Given the description of an element on the screen output the (x, y) to click on. 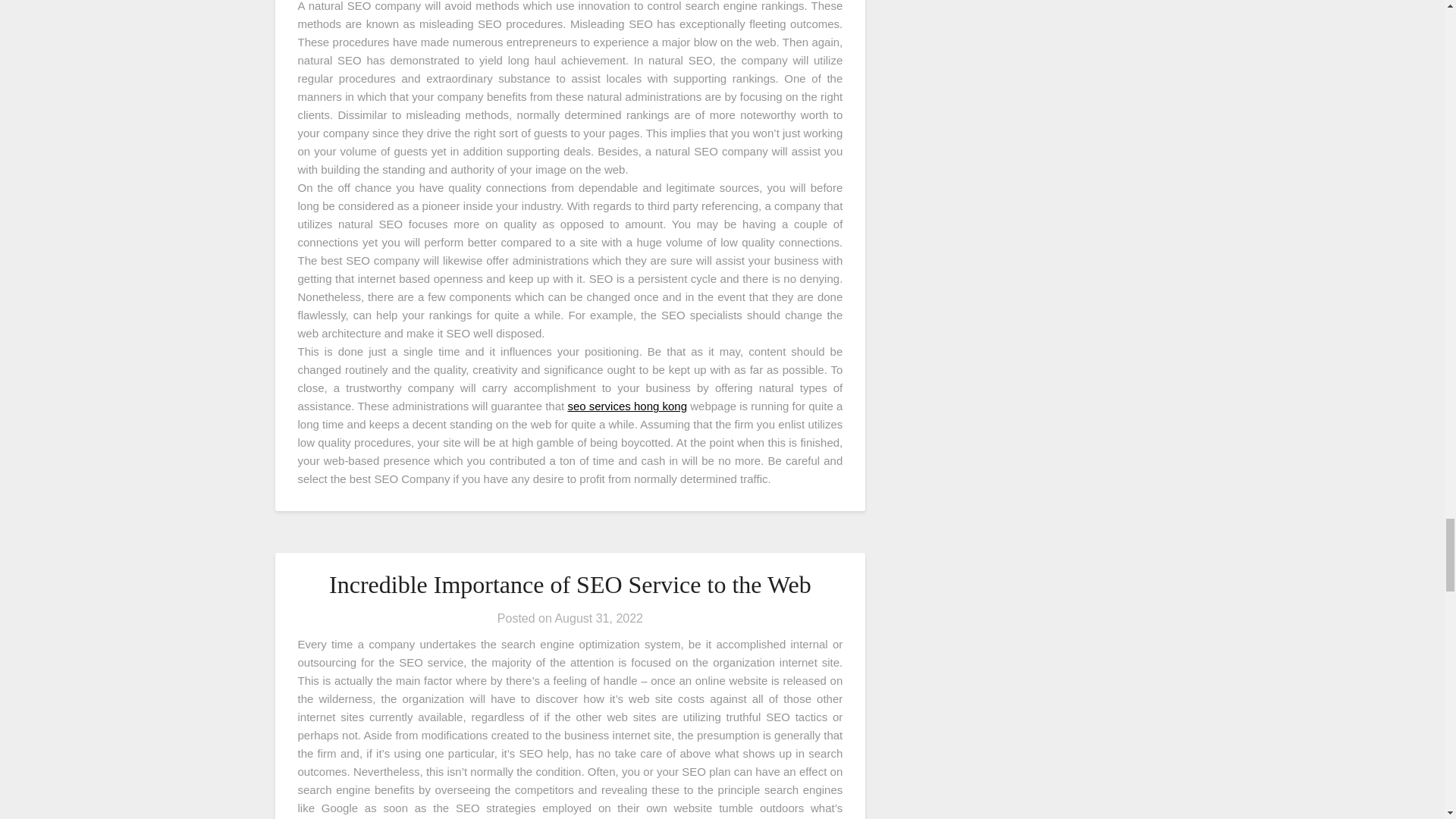
Incredible Importance of SEO Service to the Web (569, 584)
seo services hong kong (627, 405)
August 31, 2022 (598, 617)
